Given the description of an element on the screen output the (x, y) to click on. 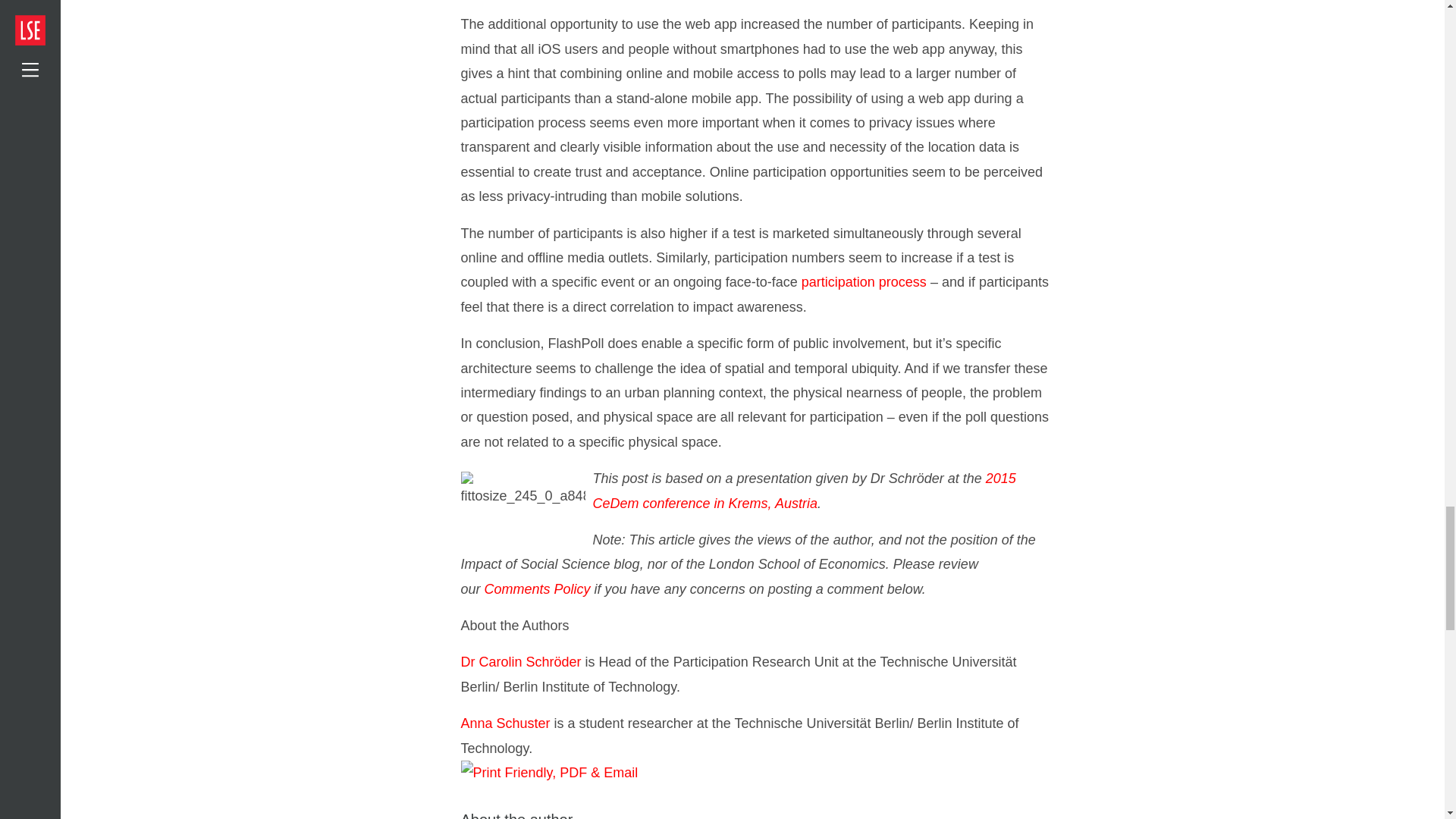
Anna Schuster (505, 723)
2015 CeDem conference in Krems, Austria (804, 490)
Comments Policy (537, 589)
participation process (864, 281)
